Given the description of an element on the screen output the (x, y) to click on. 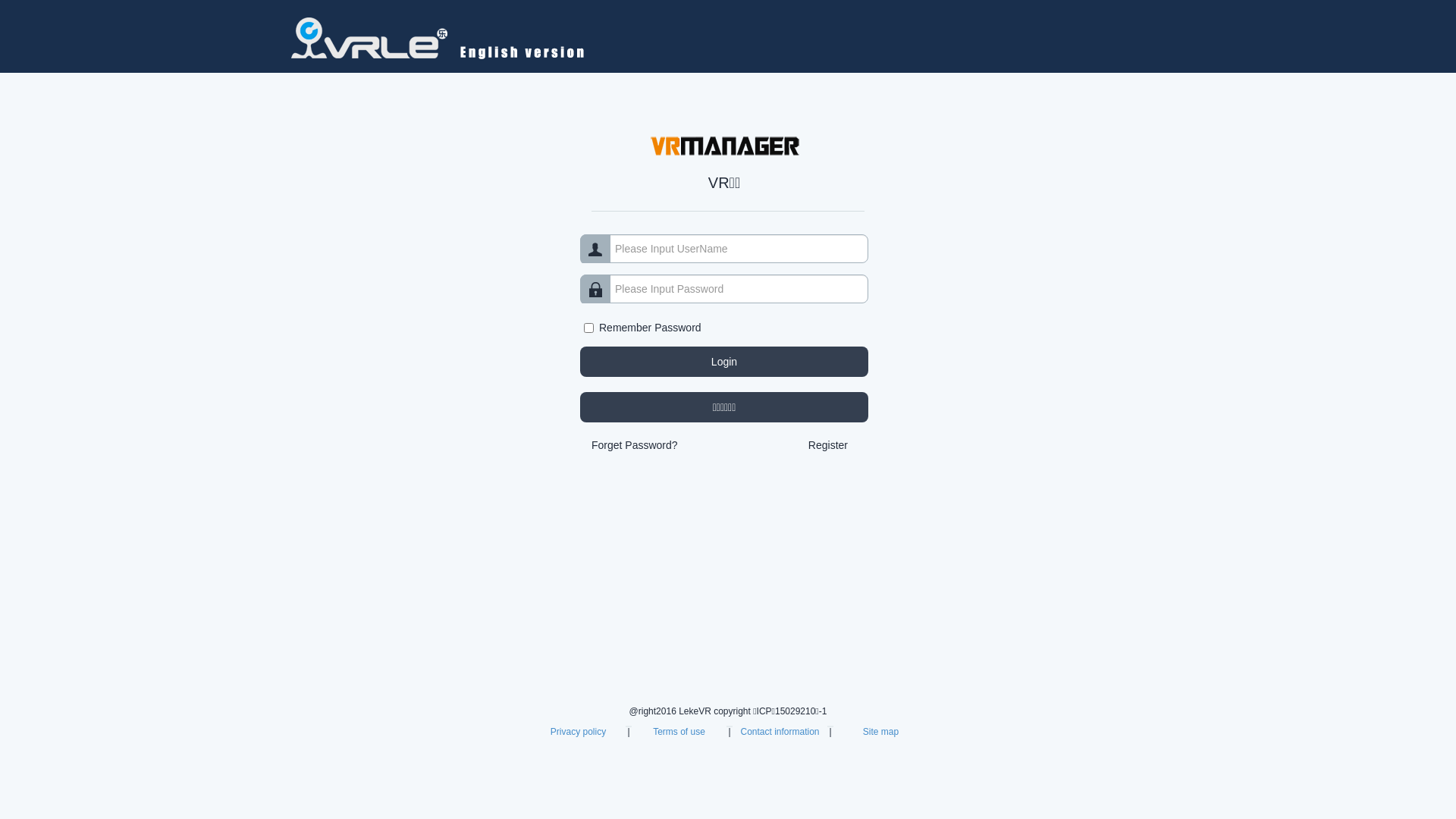
Contact information Element type: text (779, 731)
Register Element type: text (827, 445)
Site map Element type: text (880, 731)
Login Element type: text (724, 361)
Privacy policy Element type: text (577, 731)
Terms of use Element type: text (678, 731)
Forget Password? Element type: text (634, 445)
